Given the description of an element on the screen output the (x, y) to click on. 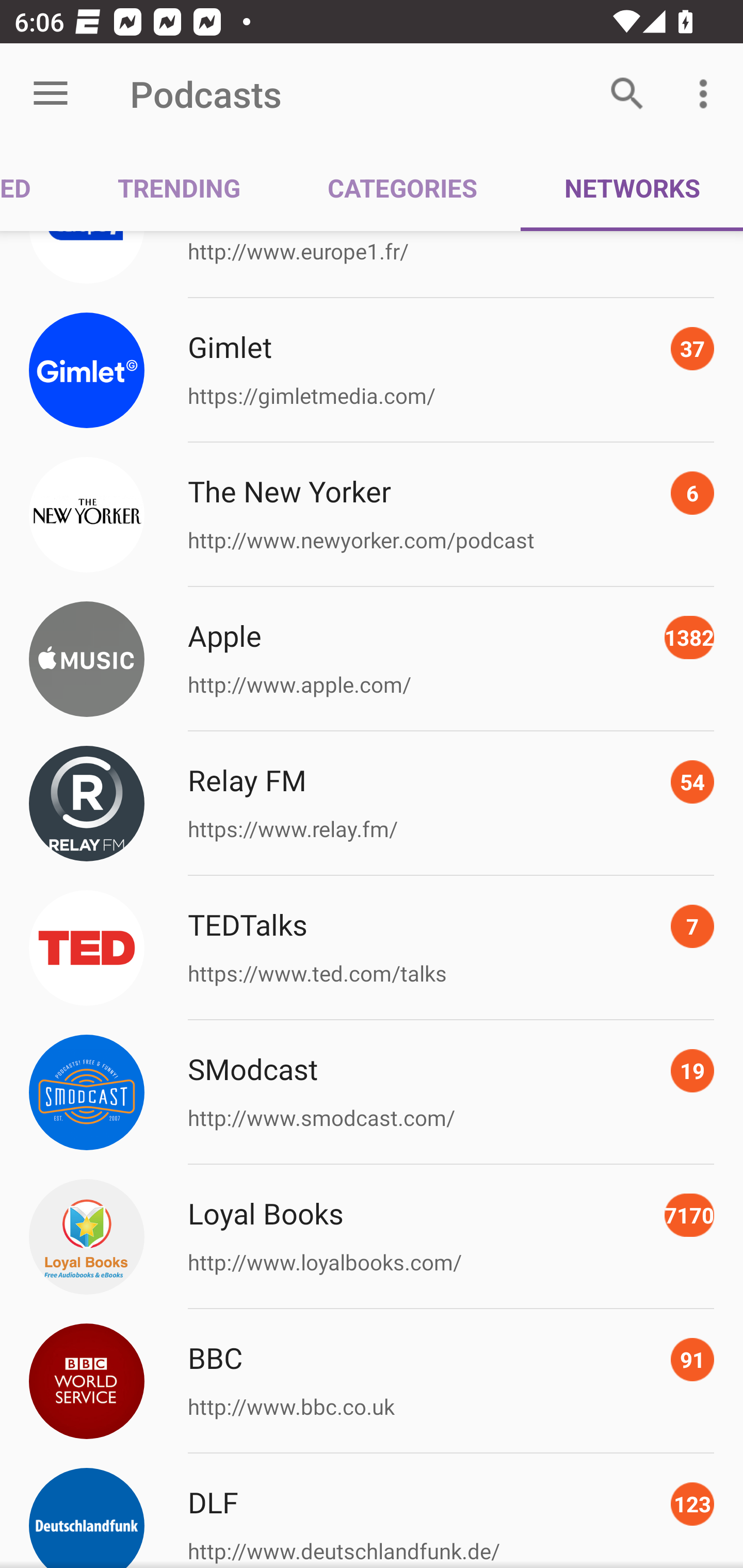
Open menu (50, 93)
Search (626, 93)
More options (706, 93)
TRENDING (178, 187)
CATEGORIES (401, 187)
NETWORKS (631, 187)
Picture http://www.europe1.fr/ (371, 263)
Picture Gimlet 37 https://gimletmedia.com/ (371, 369)
Picture Apple 1382 http://www.apple.com/ (371, 658)
Picture Relay FM 54 https://www.relay.fm/ (371, 803)
Picture TEDTalks 7 https://www.ted.com/talks (371, 948)
Picture SModcast 19 http://www.smodcast.com/ (371, 1092)
Picture BBC 91 http://www.bbc.co.uk (371, 1381)
Picture DLF 123 http://www.deutschlandfunk.de/ (371, 1510)
